Given the description of an element on the screen output the (x, y) to click on. 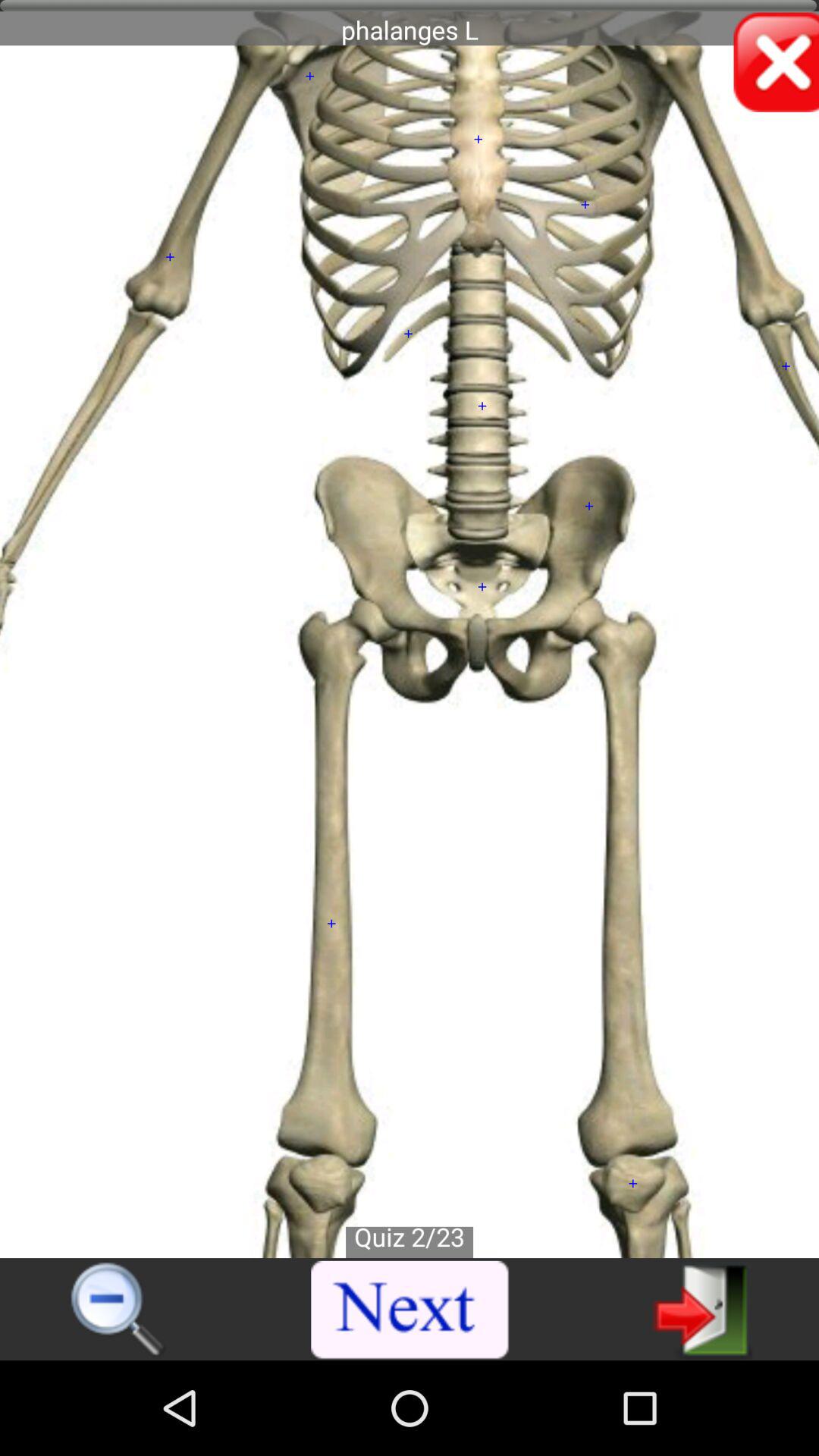
for next (702, 1309)
